Given the description of an element on the screen output the (x, y) to click on. 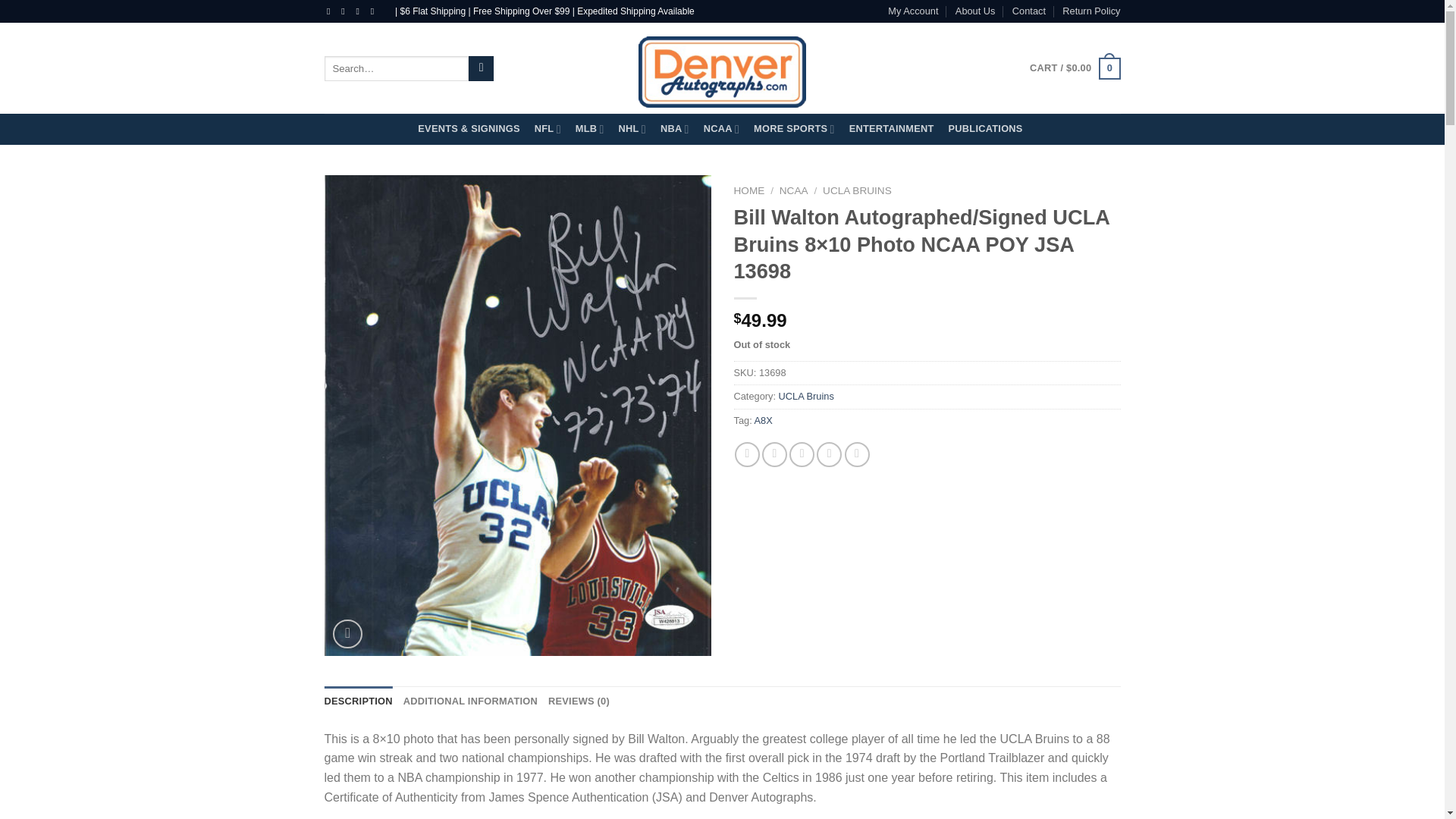
My Account (912, 11)
Denver Autographs - Denver, Colorado (722, 67)
About Us (975, 11)
Contact (1028, 11)
Cart (1074, 68)
NFL (549, 128)
Zoom (347, 634)
Return Policy (1090, 11)
